Given the description of an element on the screen output the (x, y) to click on. 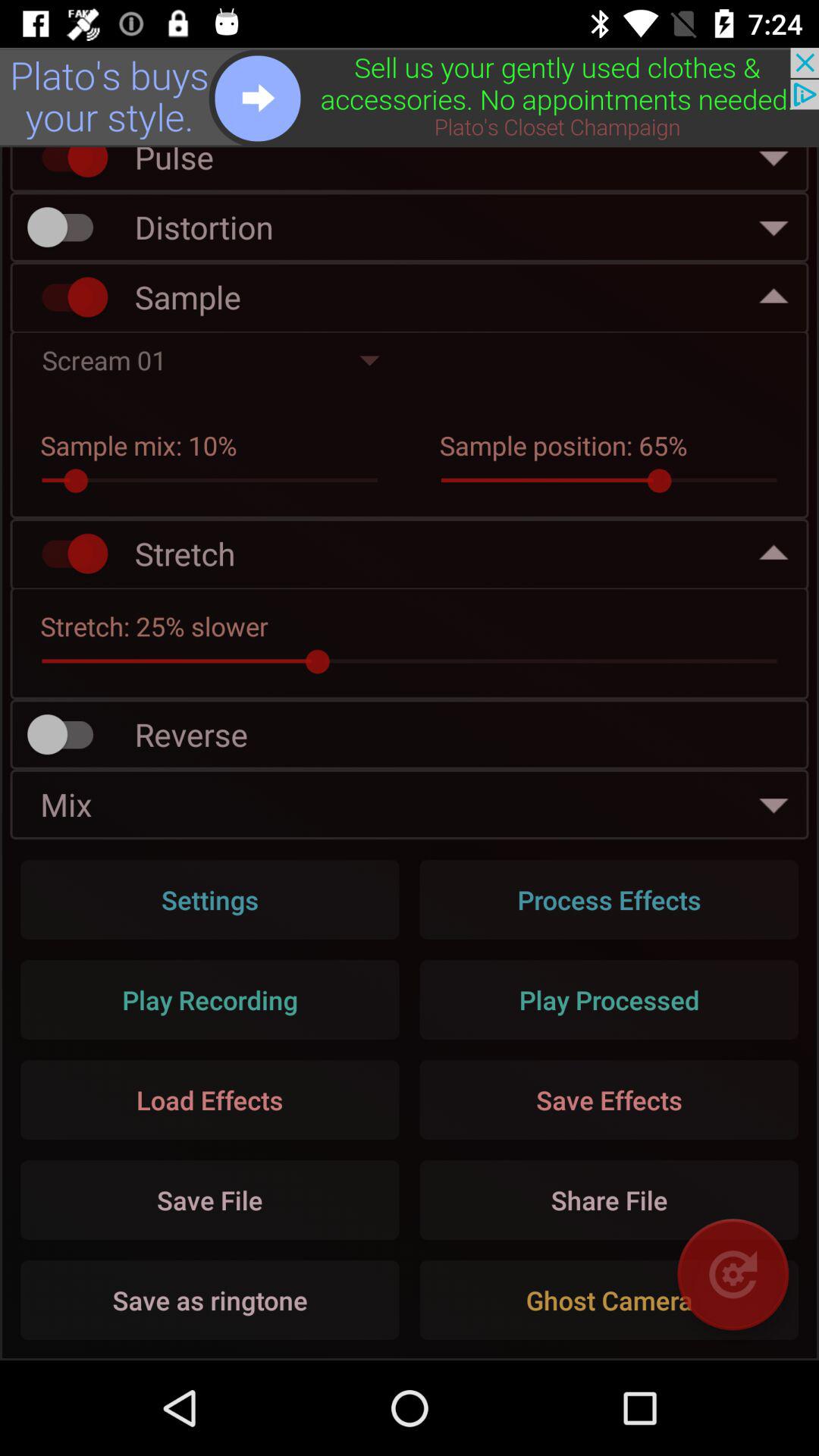
disable sample (67, 297)
